Given the description of an element on the screen output the (x, y) to click on. 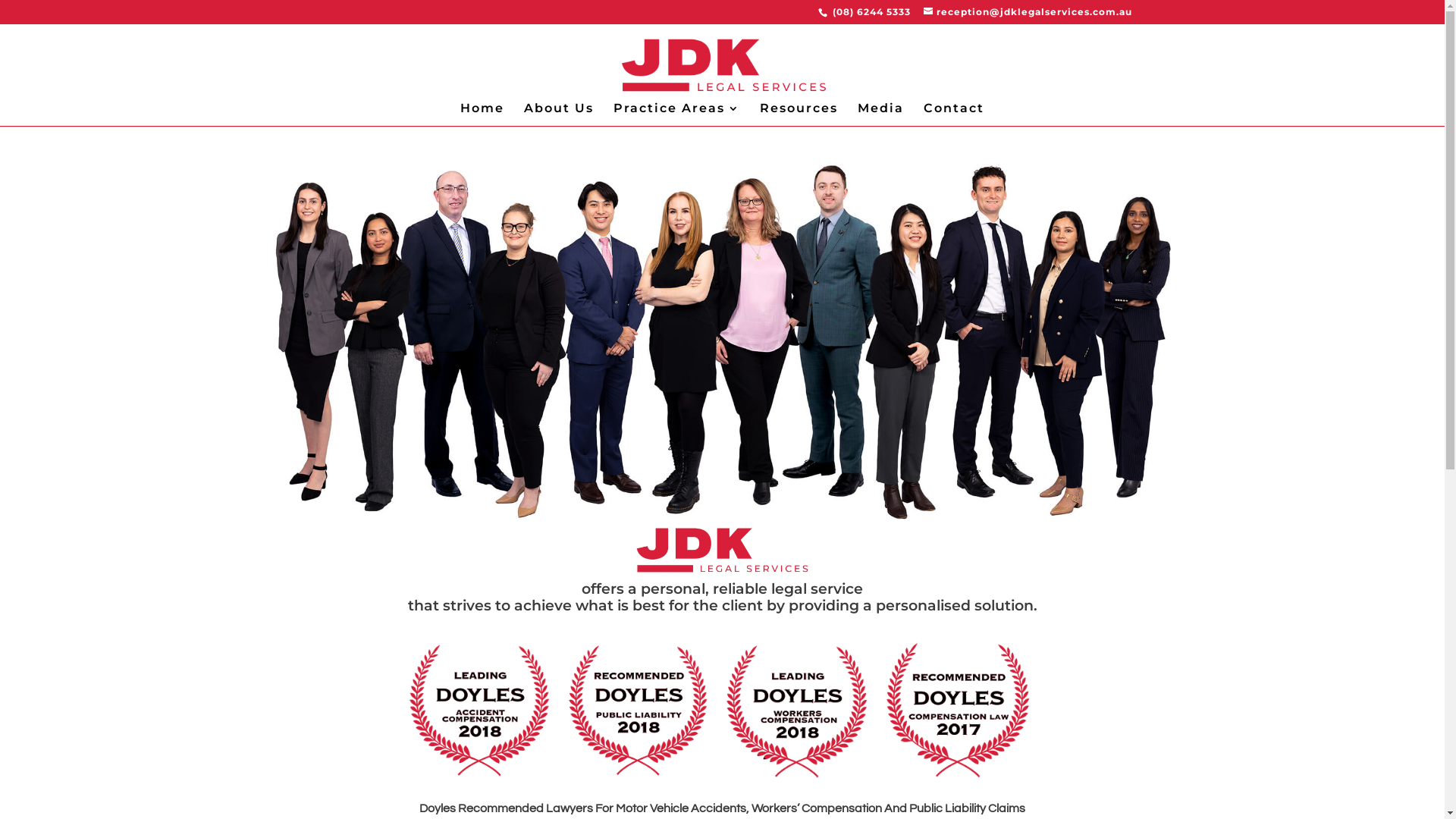
Home Element type: text (482, 114)
Practice Areas Element type: text (676, 114)
Resources Element type: text (798, 114)
(08) 6244 5333 Element type: text (869, 11)
JDK Legal Services home june23 Element type: hover (721, 340)
reception@jdklegalservices.com.au Element type: text (1027, 11)
Media Element type: text (880, 114)
Contact Element type: text (953, 114)
About Us Element type: text (558, 114)
JDKLegalServices_Logo2023 Element type: hover (722, 549)
doyles-banner-red-black Element type: hover (721, 709)
